Given the description of an element on the screen output the (x, y) to click on. 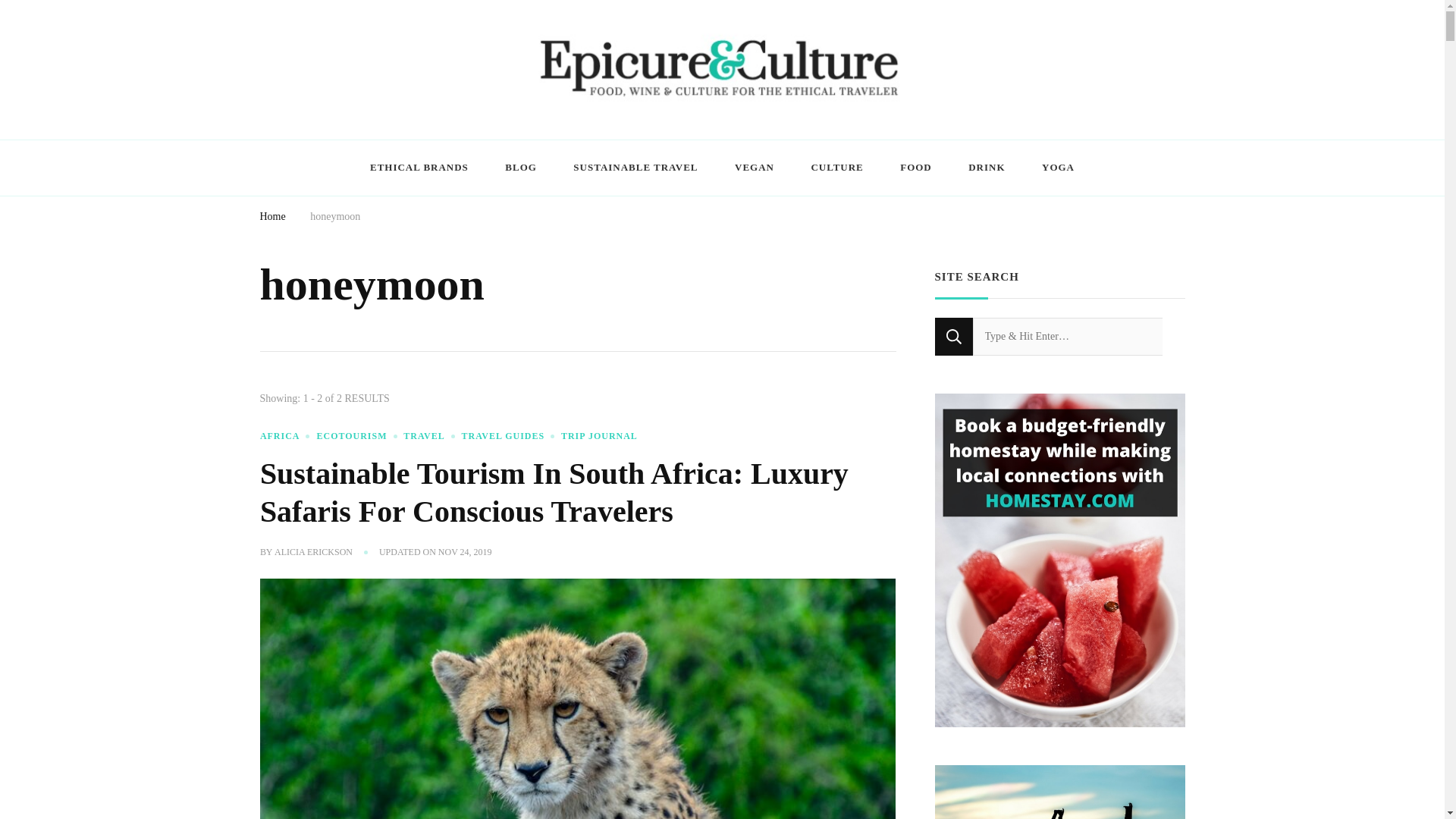
honeymoon (334, 219)
SUSTAINABLE TRAVEL (635, 168)
AFRICA (287, 435)
Search (953, 336)
ECOTOURISM (357, 435)
Search (953, 336)
NOV 24, 2019 (465, 552)
TRAVEL (430, 435)
YOGA (1057, 168)
DRINK (987, 168)
TRAVEL GUIDES (509, 435)
CULTURE (836, 168)
ETHICAL BRANDS (418, 168)
Home (272, 219)
